Given the description of an element on the screen output the (x, y) to click on. 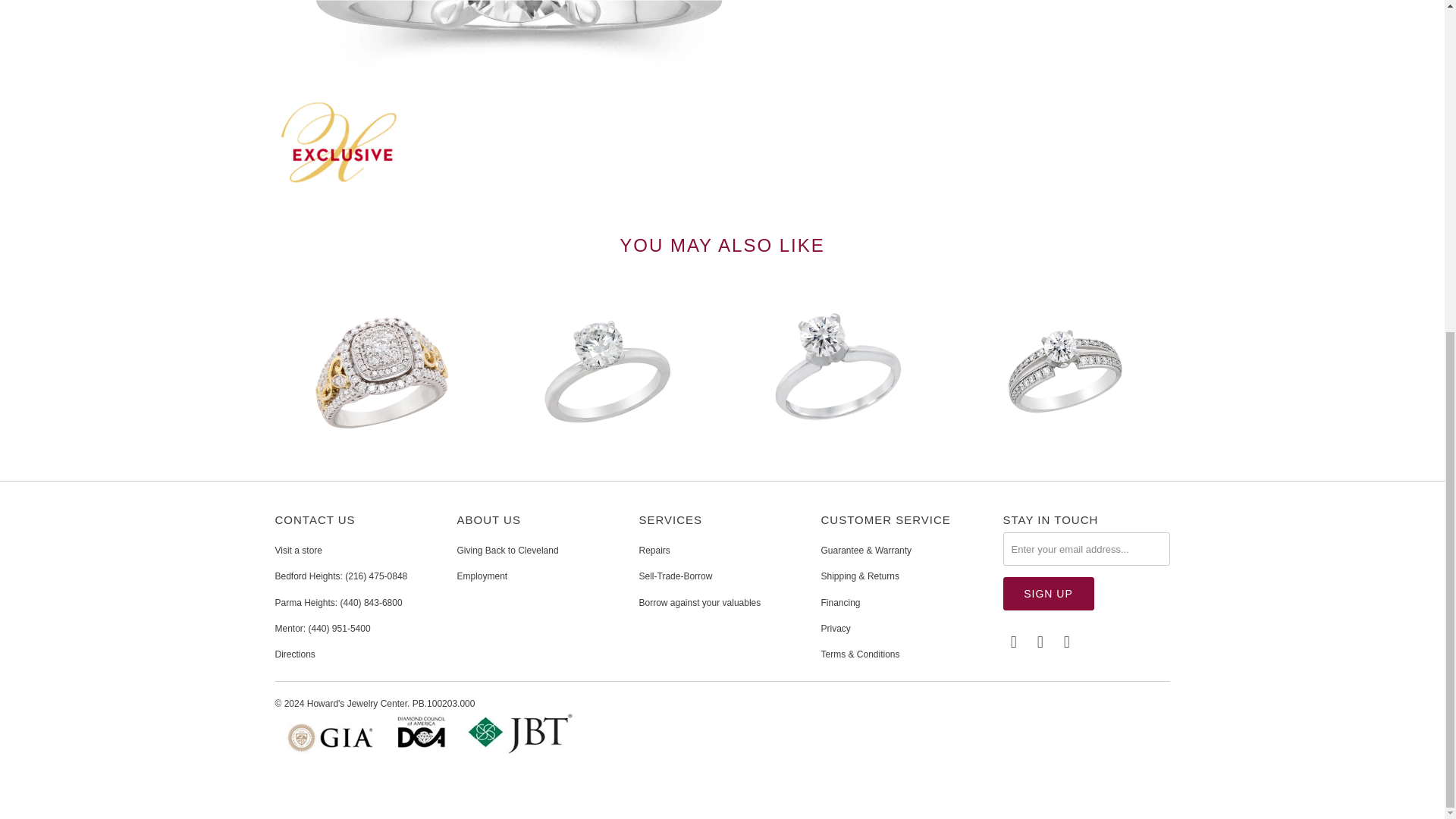
Howard's Jewelry Center on Instagram (1067, 642)
Howard's Jewelry Center on Pinterest (1040, 642)
Howard's Jewelry Center on Facebook (1014, 642)
Sign Up (1048, 593)
